Given the description of an element on the screen output the (x, y) to click on. 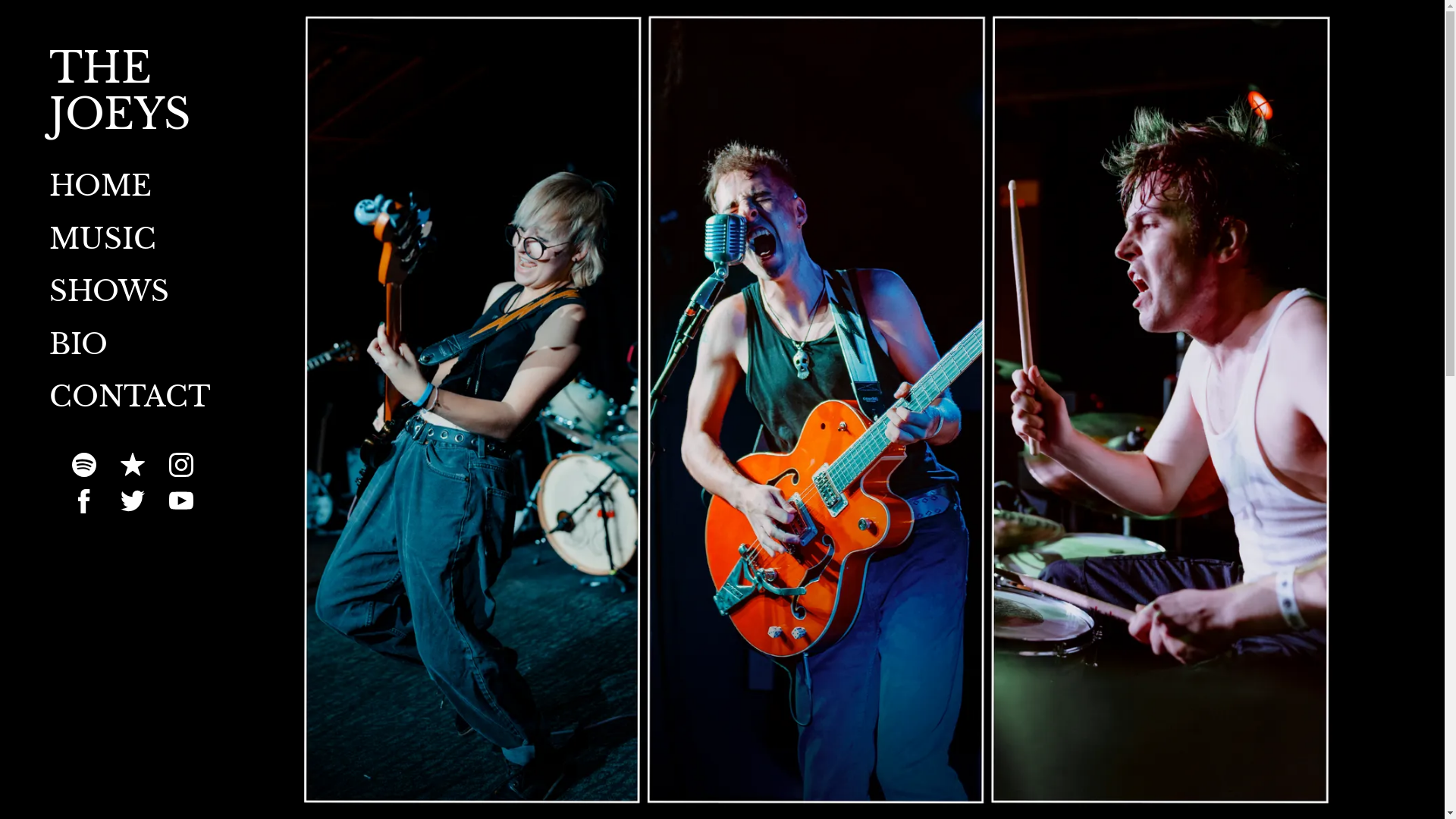
THE JOEYS Element type: text (132, 122)
CONTACT Element type: text (129, 396)
HOME Element type: text (100, 185)
SHOWS Element type: text (109, 290)
MUSIC Element type: text (102, 238)
https://www.youtube.com/thejoeys Element type: hover (181, 500)
https://twitter.com/JoeysBand Element type: hover (132, 500)
https://instagram.com/joeysband Element type: hover (181, 463)
https://www.facebook.com/JoeysBandAZ Element type: hover (84, 500)
BIO Element type: text (78, 343)
https://music.apple.com/us/artist/the-joeys/1417443161 Element type: hover (132, 463)
